Given the description of an element on the screen output the (x, y) to click on. 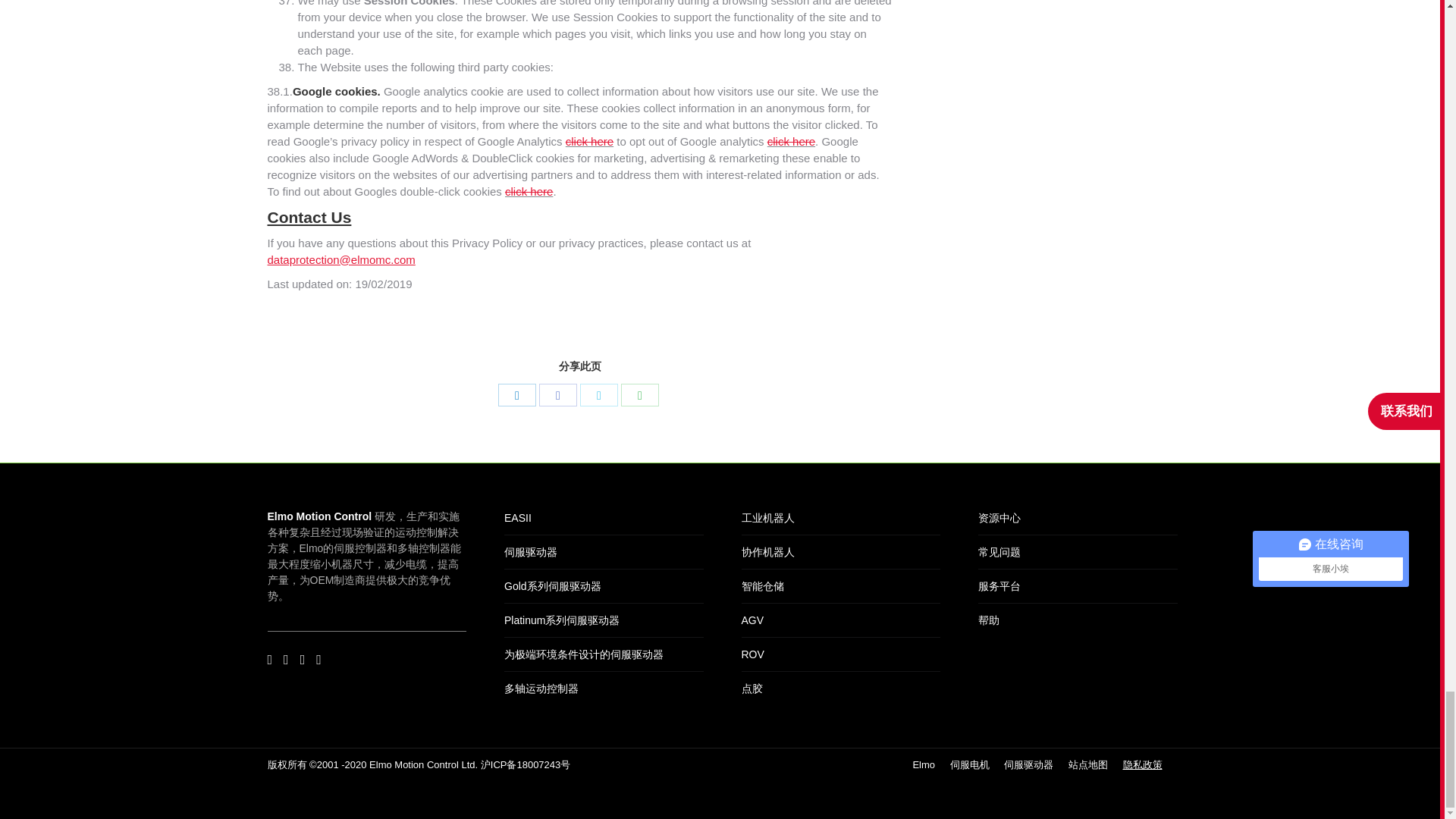
Elmo homepage (923, 764)
Facebook (557, 394)
LinkedIn (516, 394)
WhatsApp (640, 394)
Twitter (598, 394)
